Given the description of an element on the screen output the (x, y) to click on. 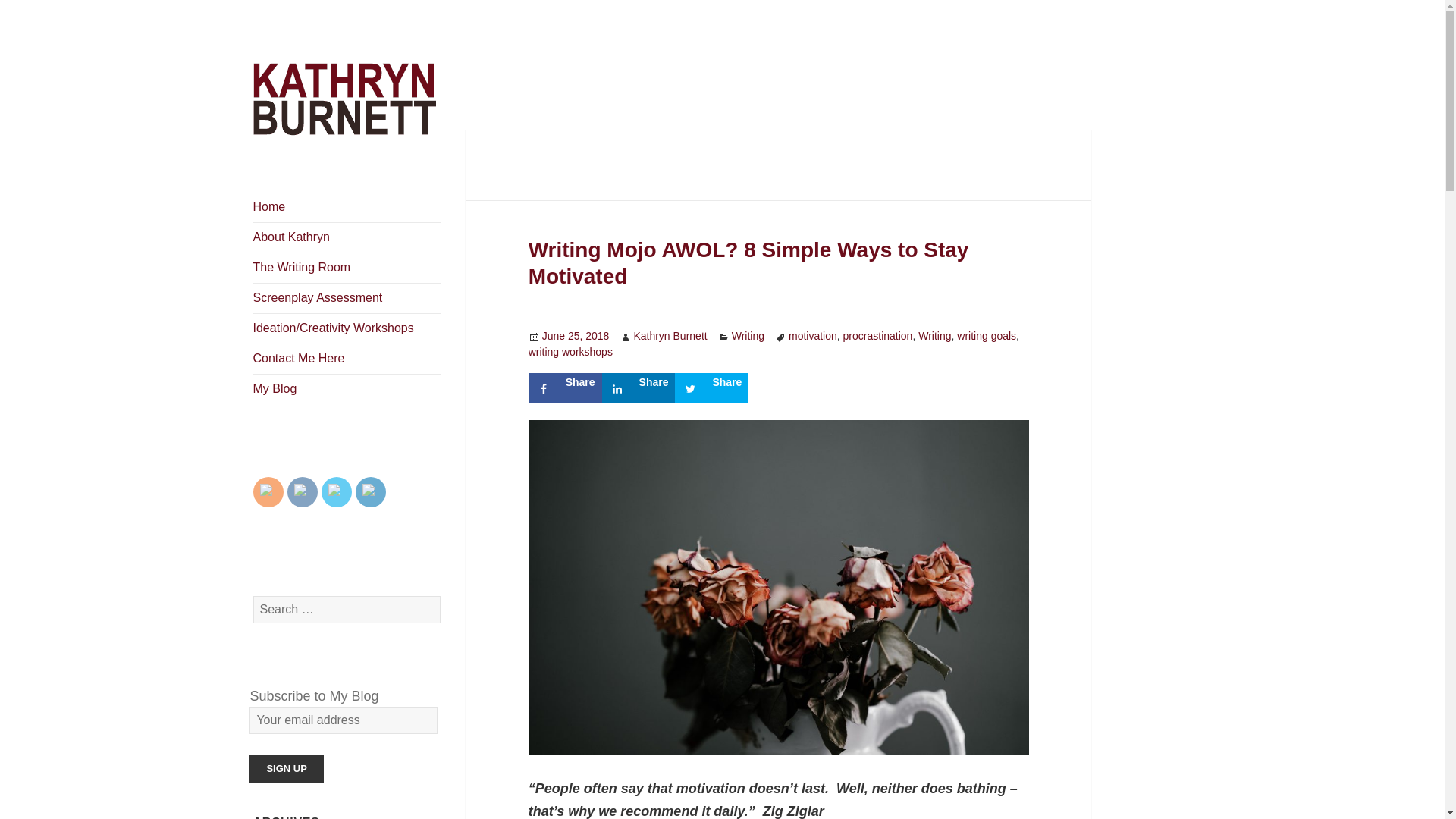
Share on Share (711, 388)
About Kathryn (291, 236)
Contact Me Here (299, 358)
My Blog (275, 388)
LinkedIn (370, 492)
Share on Share (565, 388)
Home (269, 205)
Sign up (285, 768)
Sign up (285, 768)
